Given the description of an element on the screen output the (x, y) to click on. 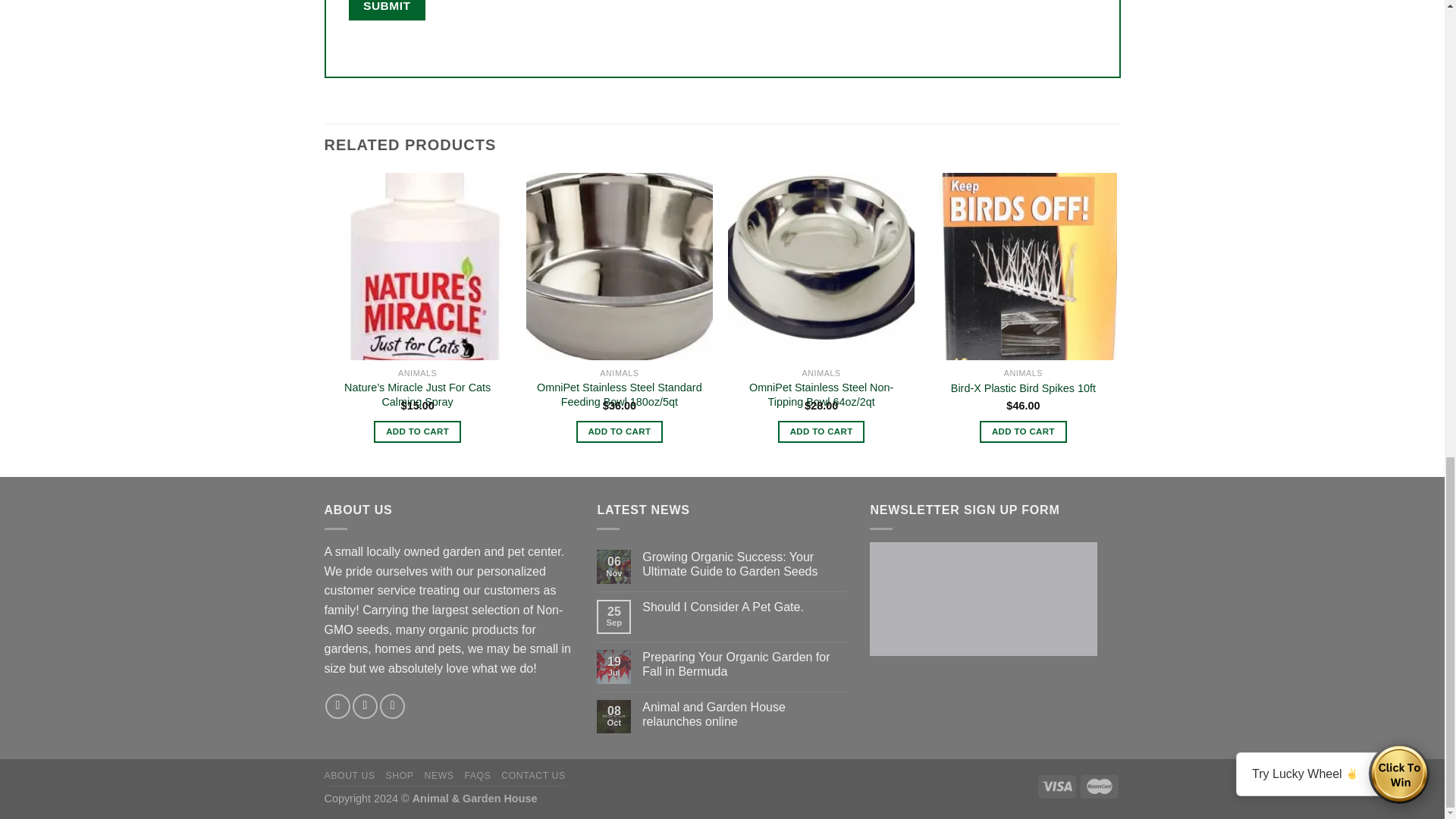
Submit (387, 10)
